Given the description of an element on the screen output the (x, y) to click on. 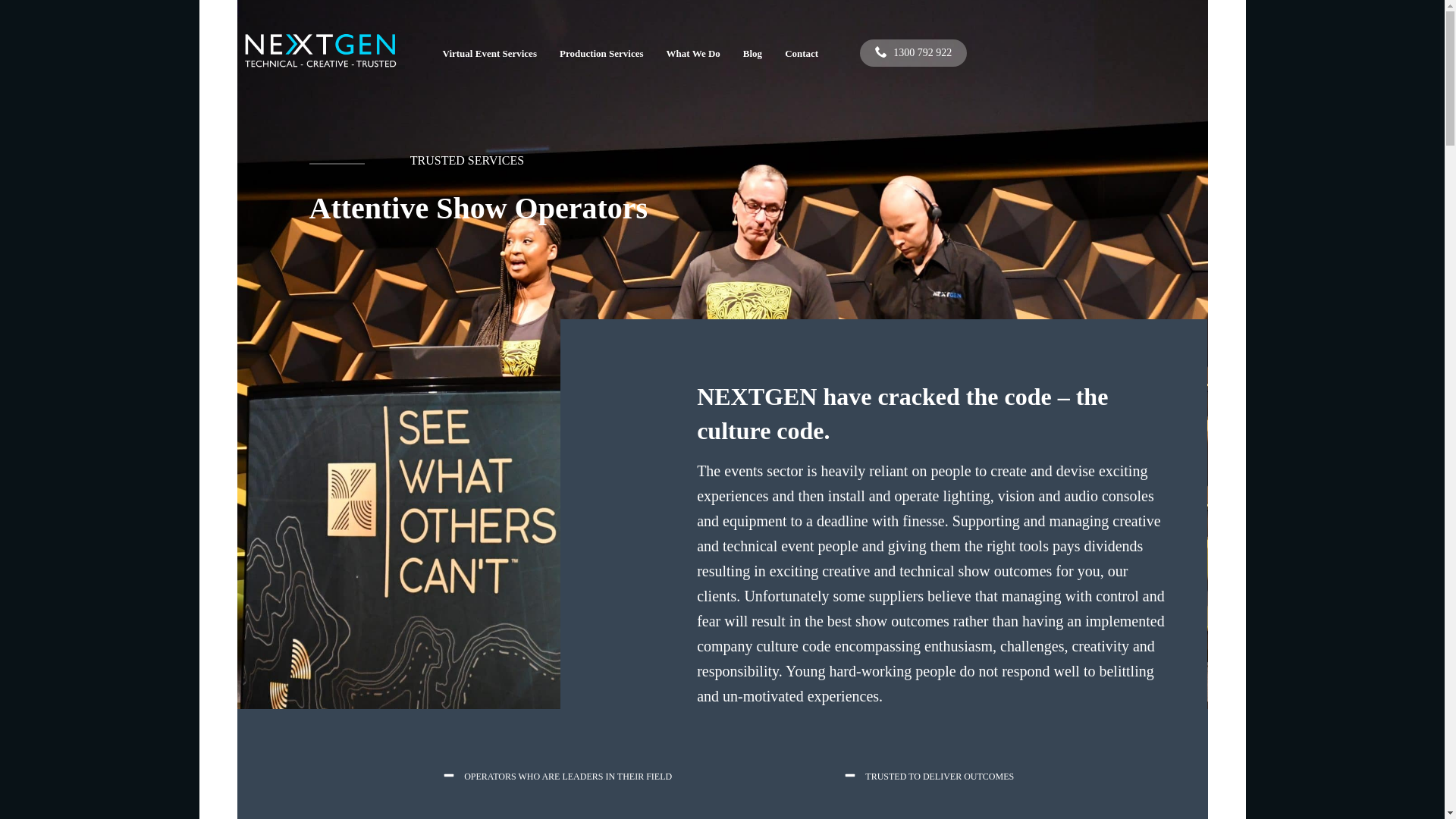
1300 792 922 Element type: text (912, 52)
Event Audio Visual Hire Element type: hover (319, 51)
Blog Element type: text (752, 53)
Production Services Element type: text (601, 53)
Virtual Event Services Element type: text (488, 53)
Contact Element type: text (801, 53)
What We Do Element type: text (693, 53)
